Given the description of an element on the screen output the (x, y) to click on. 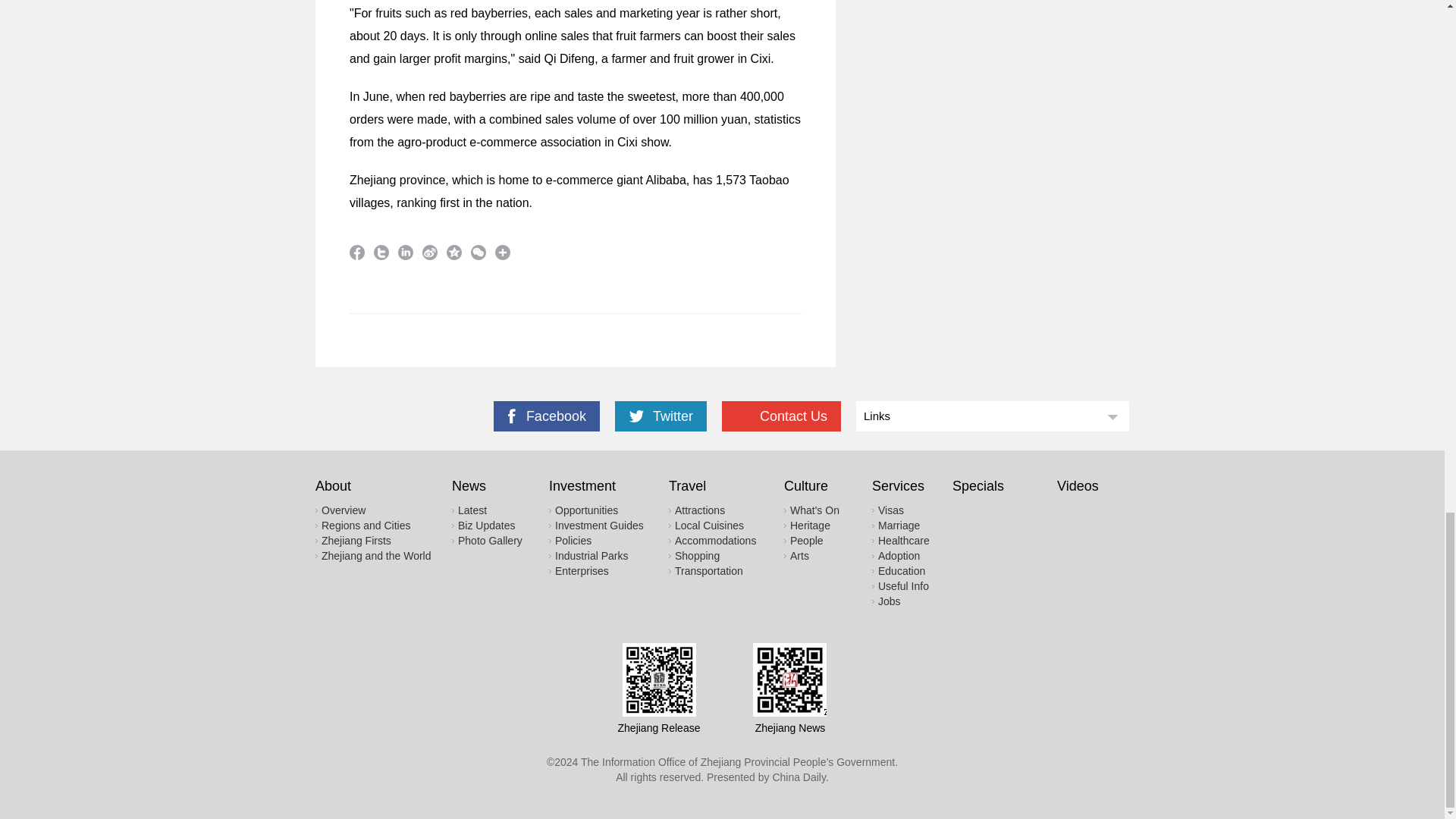
sinaminiblog (430, 252)
qzone (453, 252)
twitter (381, 252)
More (503, 252)
facebook (357, 252)
weixin (478, 252)
linkedin (405, 252)
